Given the description of an element on the screen output the (x, y) to click on. 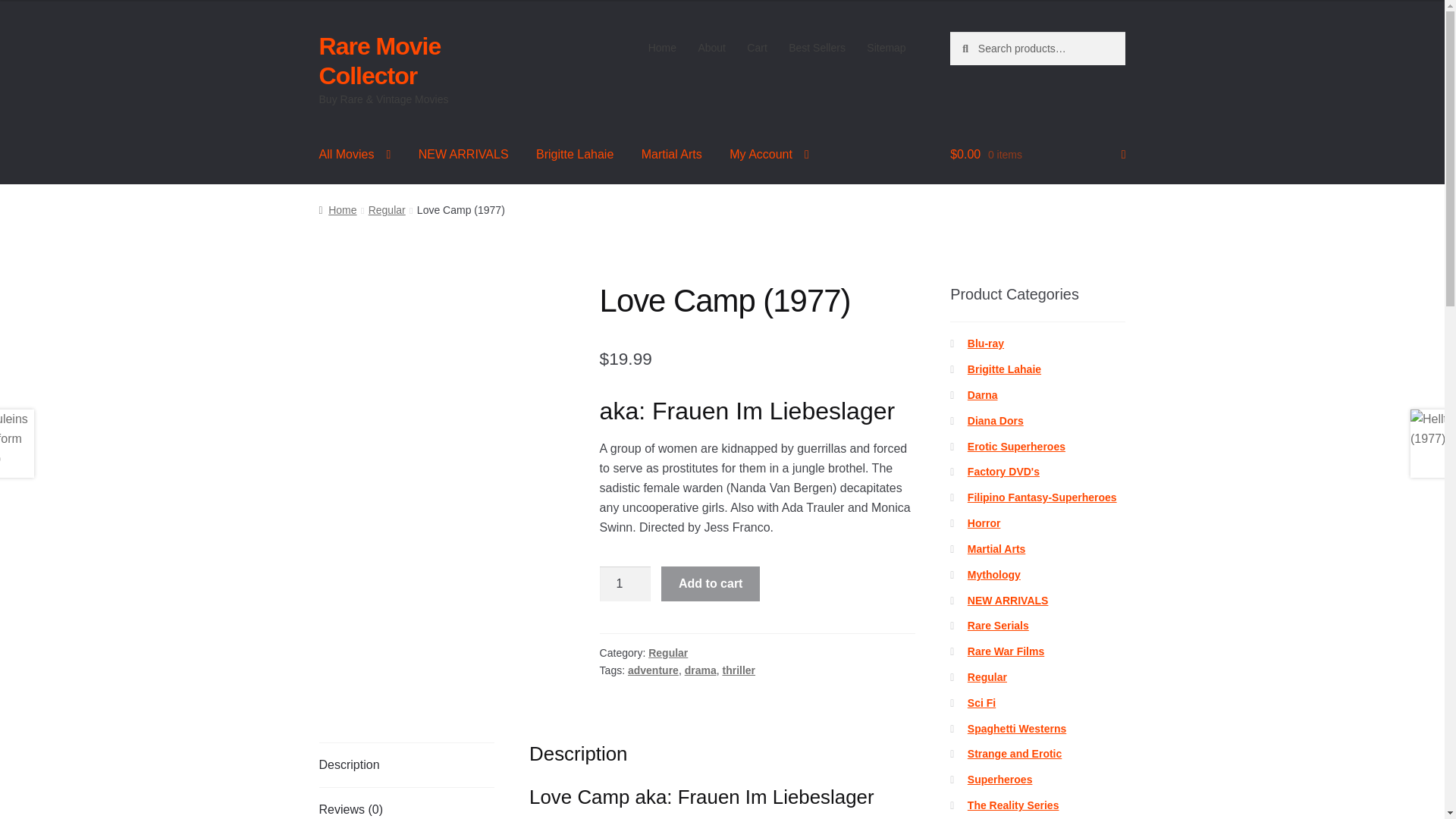
View your shopping cart (1037, 154)
All Movies (355, 154)
Brigitte Lahaie (575, 154)
NEW ARRIVALS (463, 154)
Home (662, 47)
Best Sellers (816, 47)
About (711, 47)
Rare Movie Collector (379, 60)
Martial Arts (671, 154)
Cart (757, 47)
My Account (769, 154)
Sitemap (886, 47)
1 (624, 583)
